Given the description of an element on the screen output the (x, y) to click on. 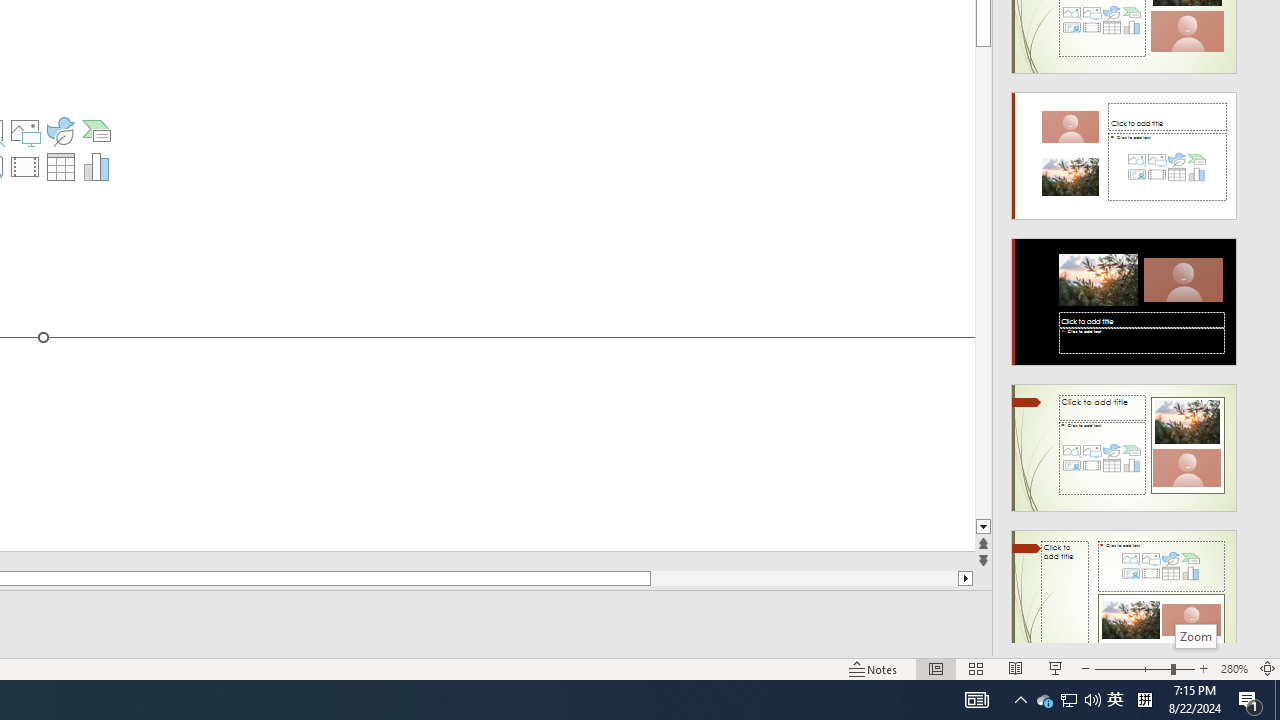
Insert Table (60, 166)
Zoom to Fit  (1267, 668)
Reading View (1015, 668)
Insert Video (24, 166)
Slide Sorter (975, 668)
Insert Chart (96, 166)
